Given the description of an element on the screen output the (x, y) to click on. 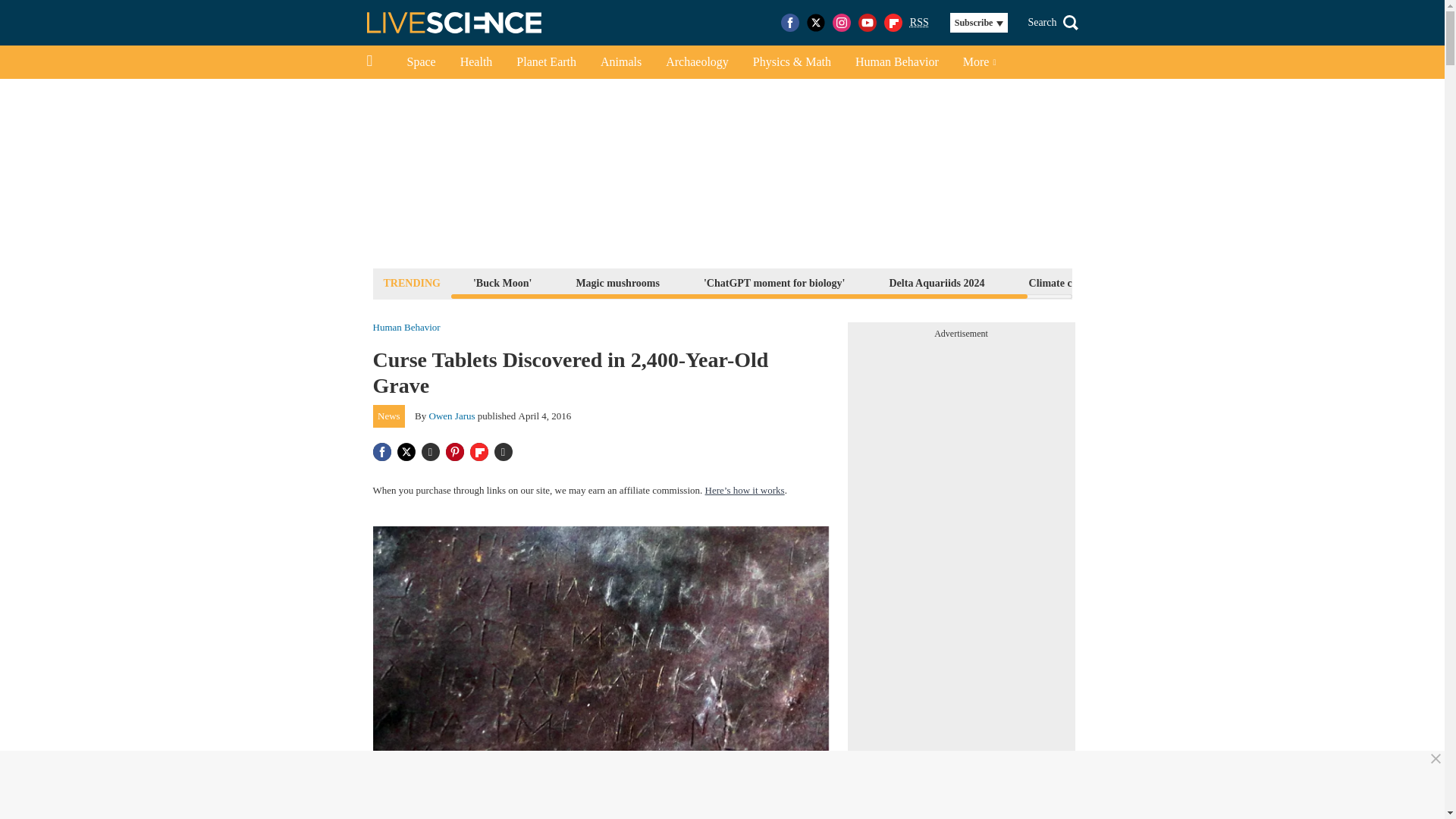
Really Simple Syndication (919, 21)
Space (420, 61)
Human Behavior (406, 327)
Owen Jarus (452, 415)
Magic mushrooms (617, 282)
Human Behavior (896, 61)
Delta Aquariids 2024 (936, 282)
Health (476, 61)
'ChatGPT moment for biology' (774, 282)
Planet Earth (545, 61)
'Buck Moon' (502, 282)
